Given the description of an element on the screen output the (x, y) to click on. 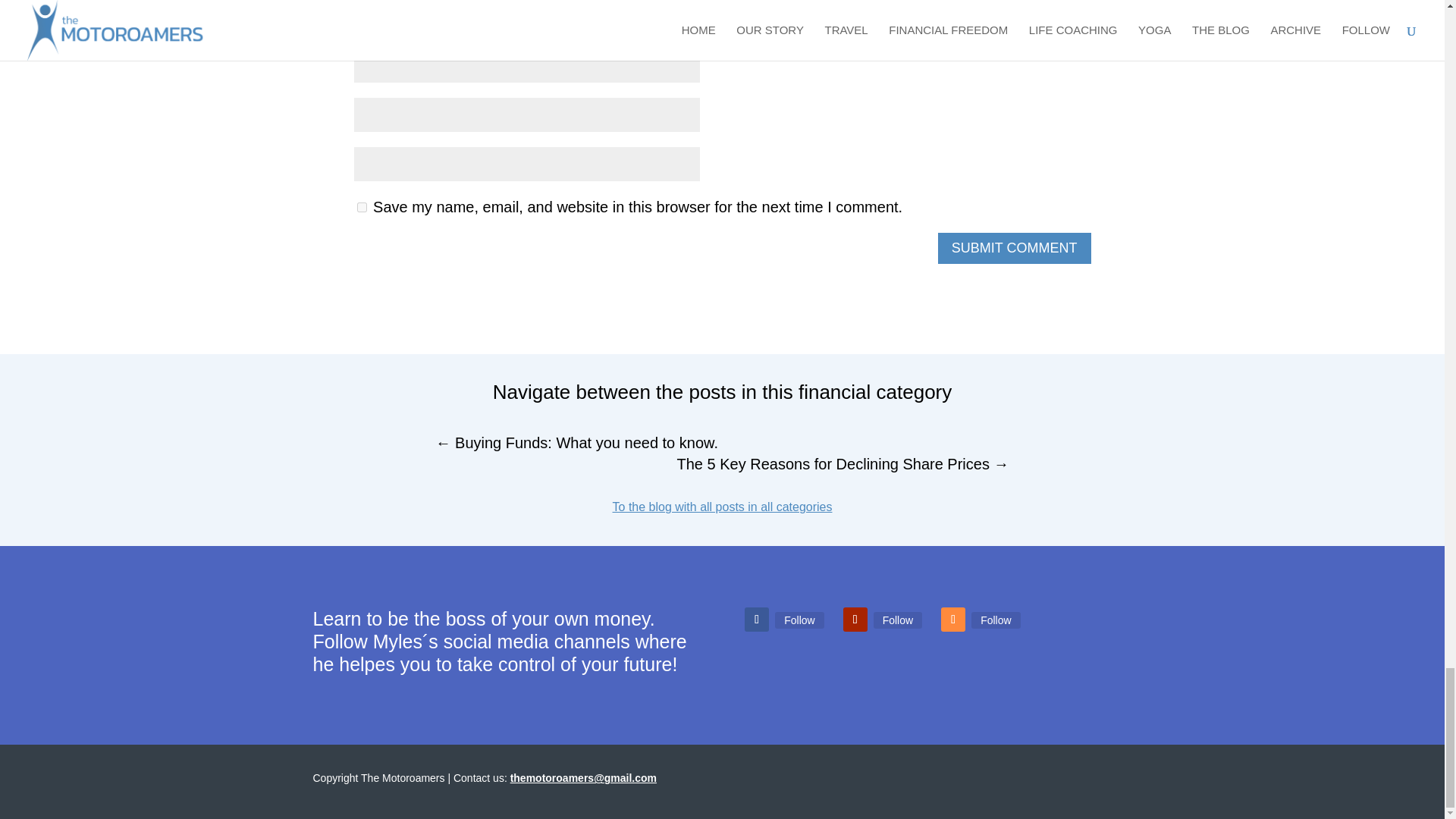
Youtube (897, 619)
SUBMIT COMMENT (1013, 247)
RSS (995, 619)
Follow (995, 619)
Follow on Facebook (756, 619)
To the blog with all posts in all categories (722, 506)
Follow (897, 619)
yes (361, 207)
Follow on RSS (952, 619)
Follow (799, 619)
Facebook (799, 619)
Follow on Youtube (855, 619)
